Given the description of an element on the screen output the (x, y) to click on. 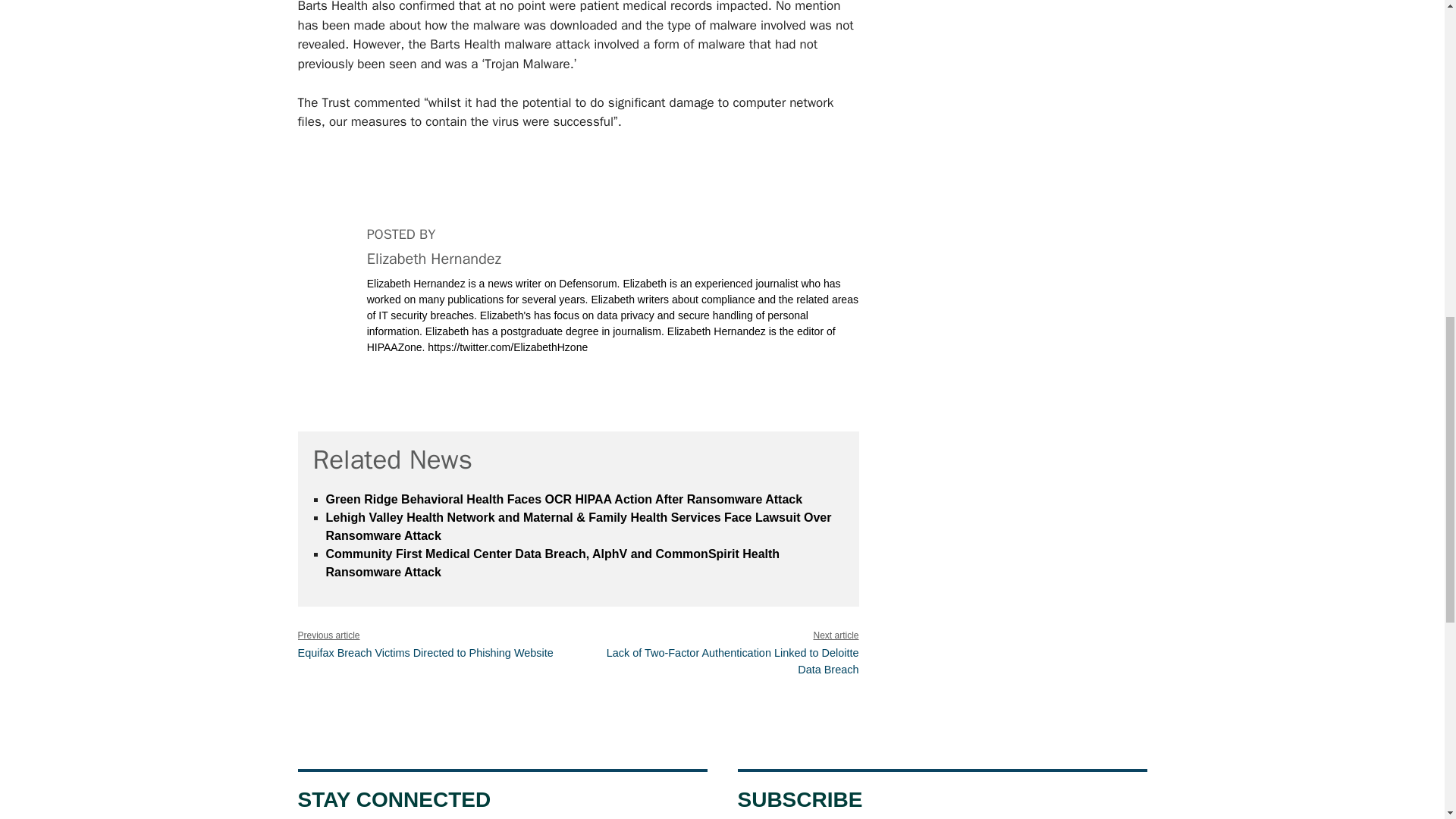
Elizabeth Hernandez (433, 258)
Equifax Breach Victims Directed to Phishing Website (425, 653)
Previous (425, 653)
Next (733, 661)
Profile-icons-Twitter (381, 386)
